Given the description of an element on the screen output the (x, y) to click on. 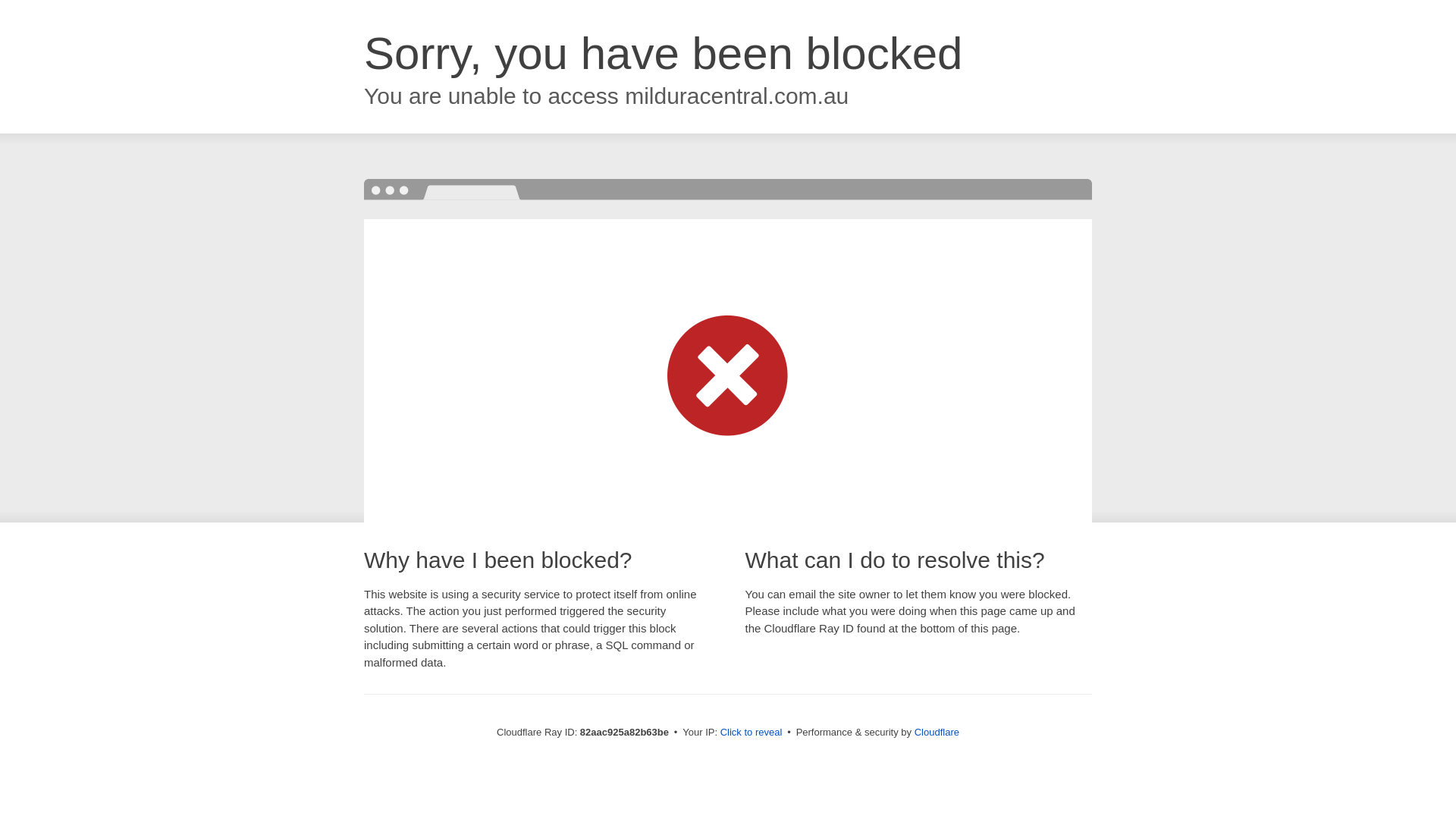
Click to reveal Element type: text (751, 732)
Cloudflare Element type: text (936, 731)
